Given the description of an element on the screen output the (x, y) to click on. 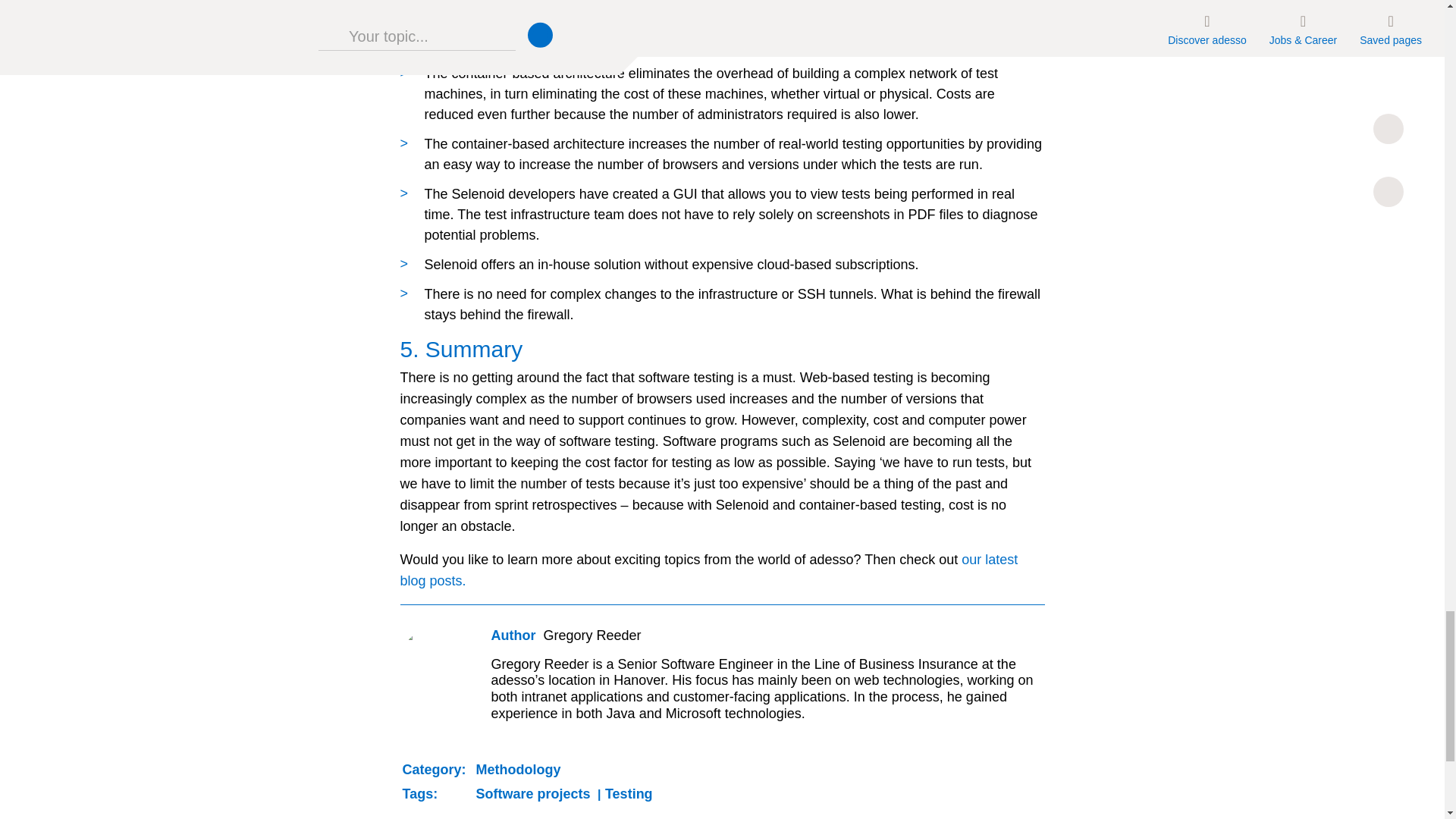
Picture Gregory  Reeder (434, 662)
